Given the description of an element on the screen output the (x, y) to click on. 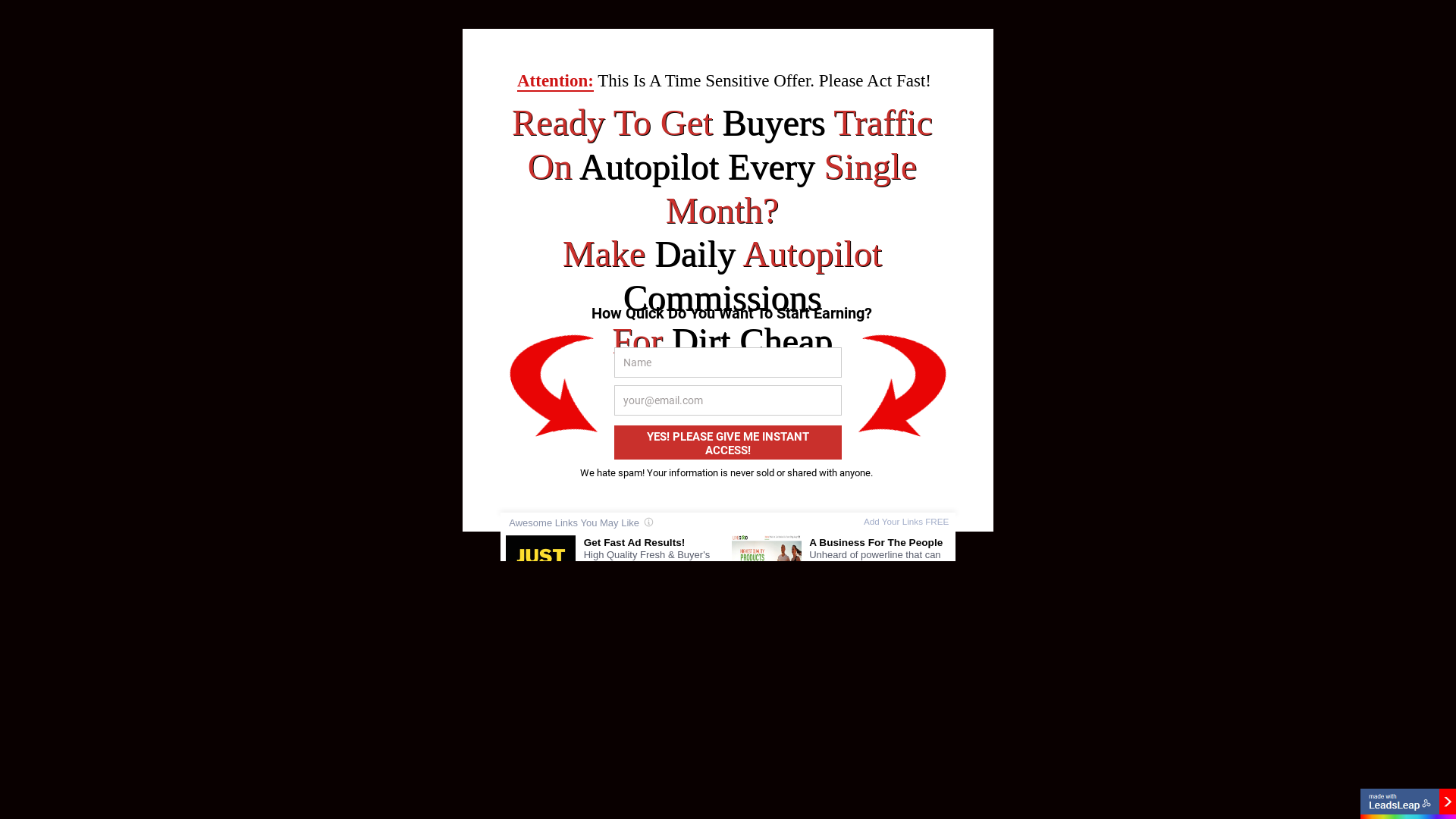
YES! PLEASE GIVE ME INSTANT
ACCESS! Element type: text (727, 442)
